Given the description of an element on the screen output the (x, y) to click on. 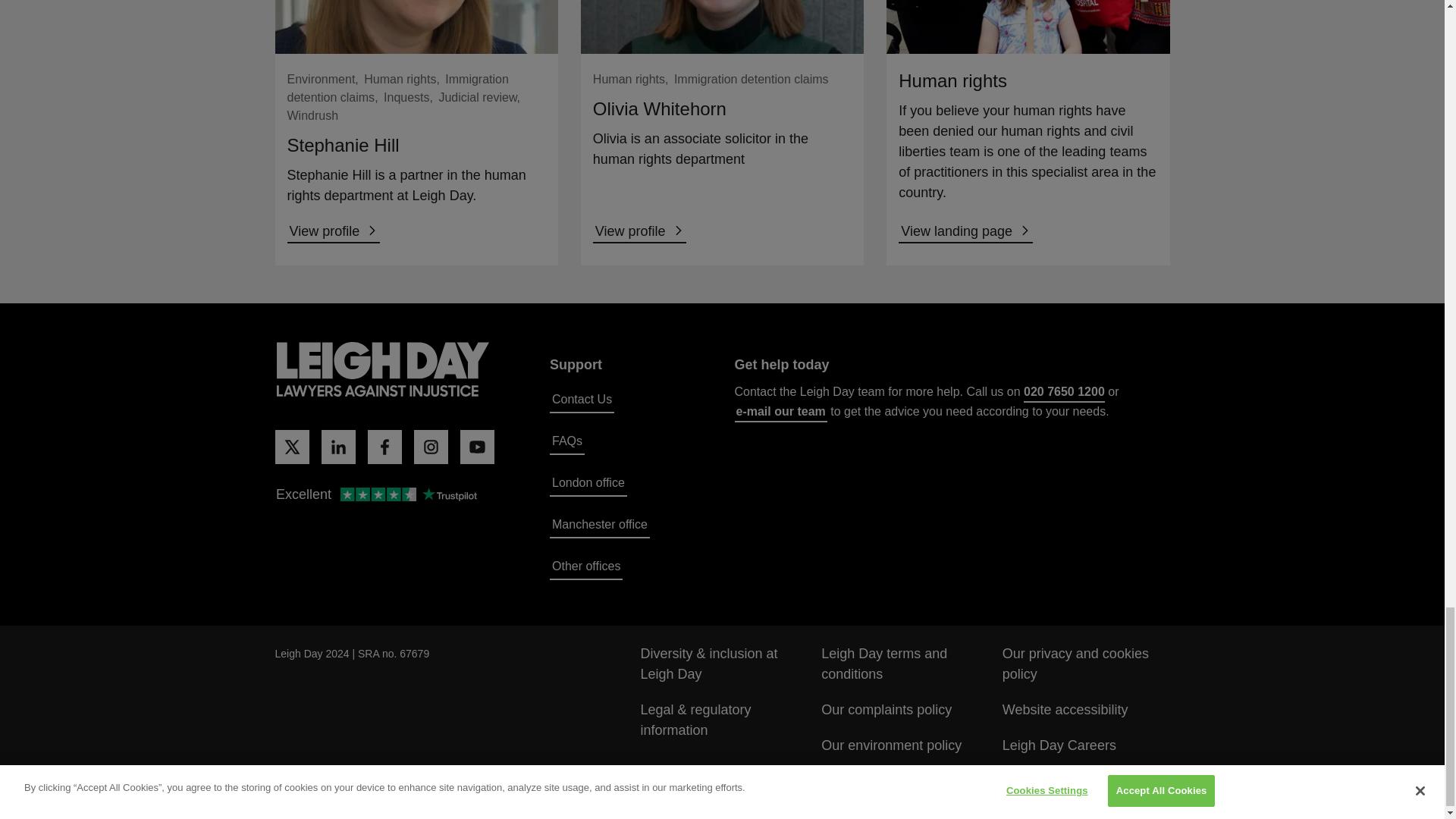
Customer reviews powered by Trustpilot (375, 495)
View Stephanie Hill (333, 232)
View Olivia Whitehorn (638, 232)
View Human rights (965, 232)
